Given the description of an element on the screen output the (x, y) to click on. 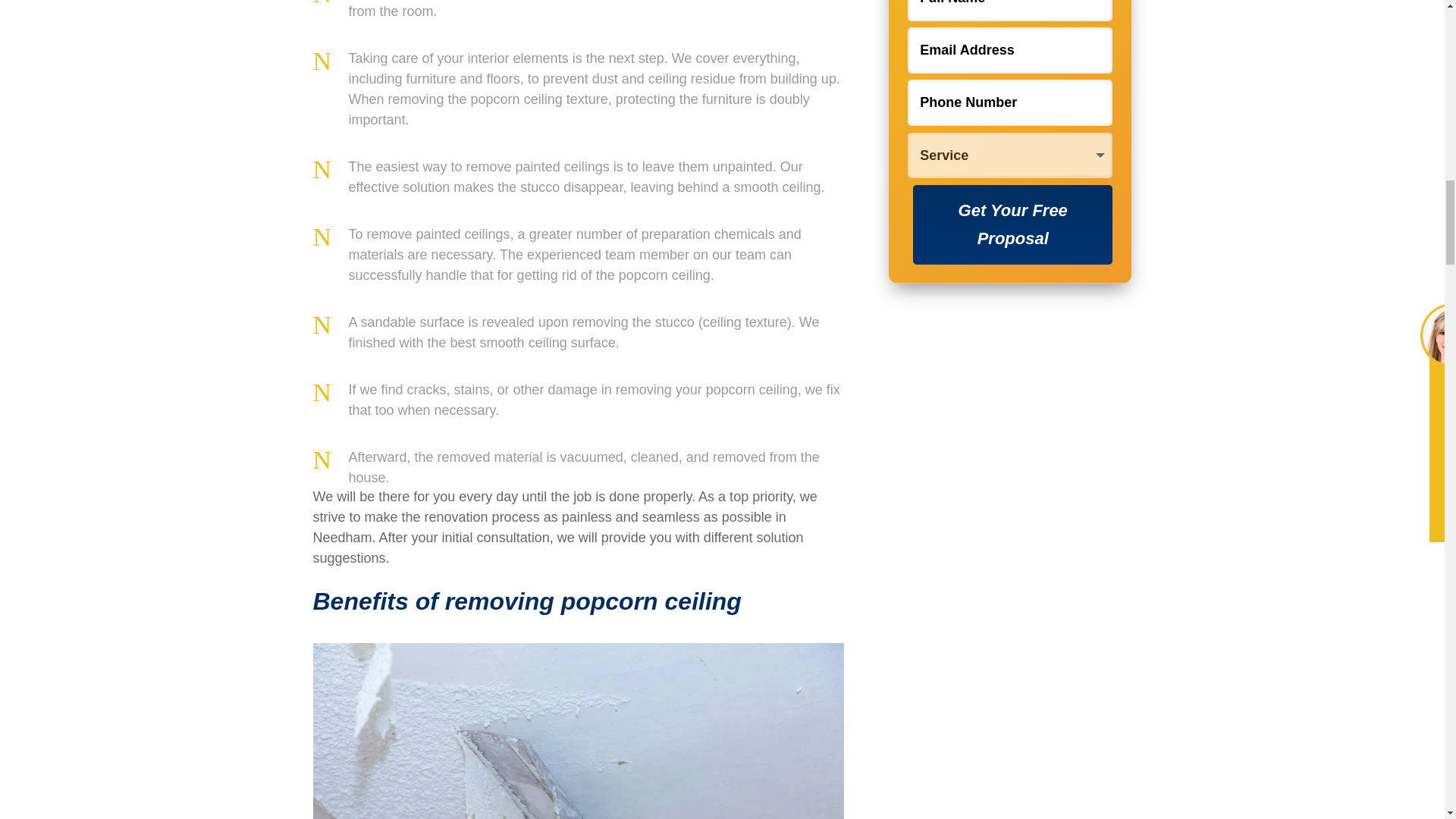
popcorn repairring (578, 730)
Get Your Free Proposal (1012, 224)
